Given the description of an element on the screen output the (x, y) to click on. 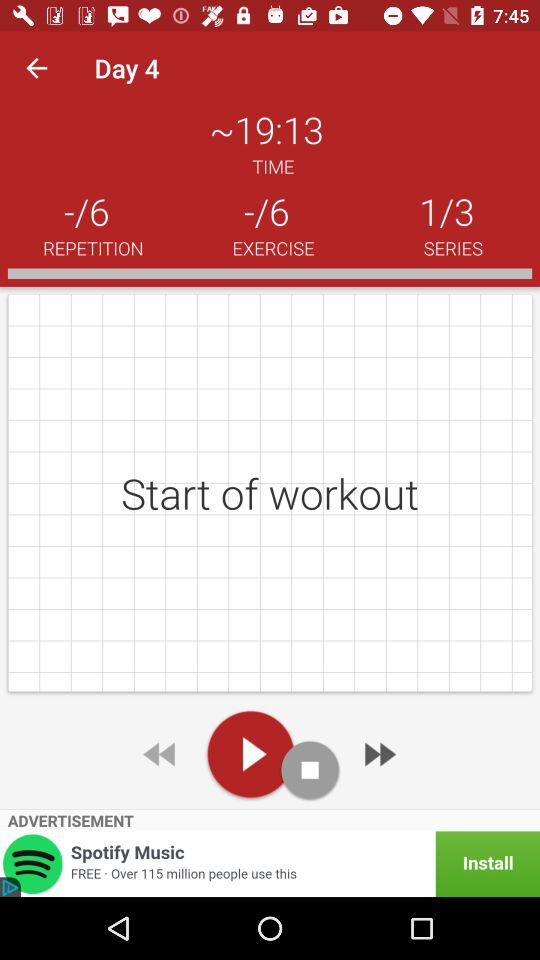
stop the workout (309, 769)
